Given the description of an element on the screen output the (x, y) to click on. 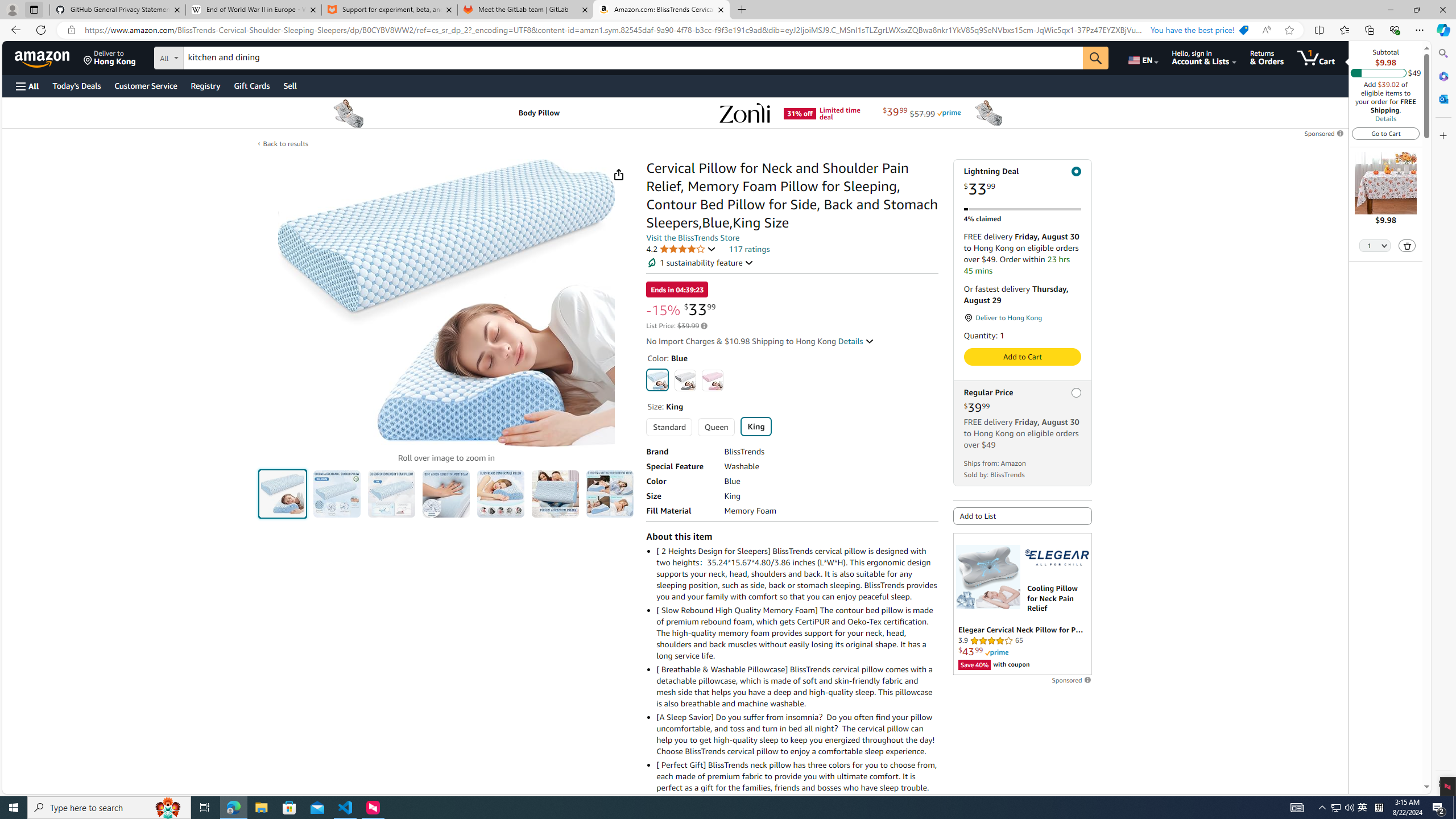
Go to Cart (1385, 133)
Sustainability features 1 sustainability feature  (700, 262)
Add to List (1022, 515)
Logo (1057, 557)
Queen (715, 426)
Registry (205, 85)
Sustainability features (652, 262)
Delete (1407, 245)
Blue (657, 379)
Details  (855, 341)
